Given the description of an element on the screen output the (x, y) to click on. 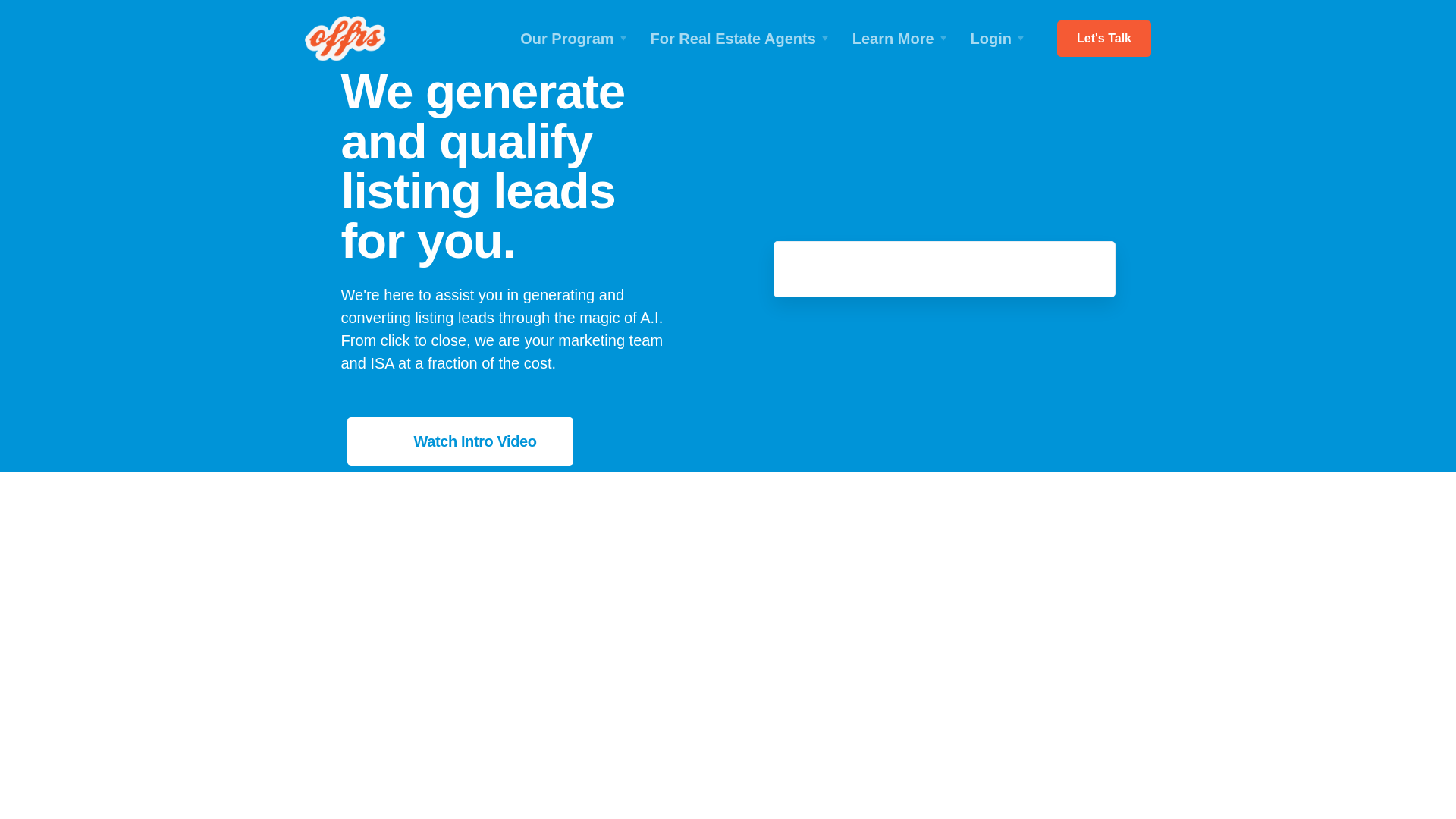
Learn More (901, 38)
Our Program (575, 38)
For Real Estate Agents (742, 38)
Let's Talk (1104, 38)
Login (999, 38)
Watch Intro Video (475, 441)
